Given the description of an element on the screen output the (x, y) to click on. 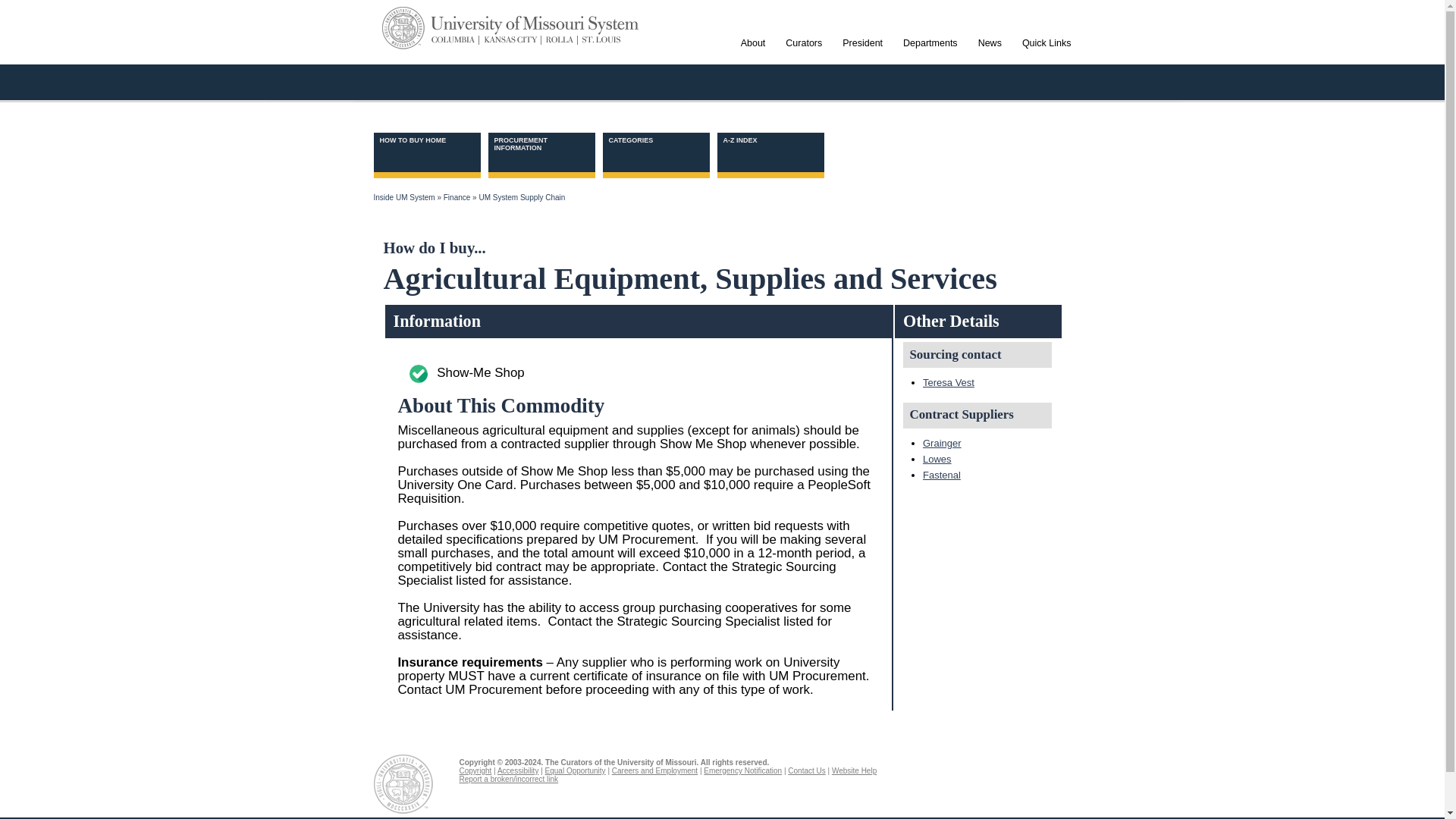
Kansas City (510, 40)
Quick Links (1046, 56)
President (861, 56)
Columbia (454, 40)
University of Missouri System (534, 25)
Rolla (558, 40)
UM System (403, 27)
Departments (930, 56)
Curators (803, 56)
St. Louis (599, 40)
About (753, 56)
